Given the description of an element on the screen output the (x, y) to click on. 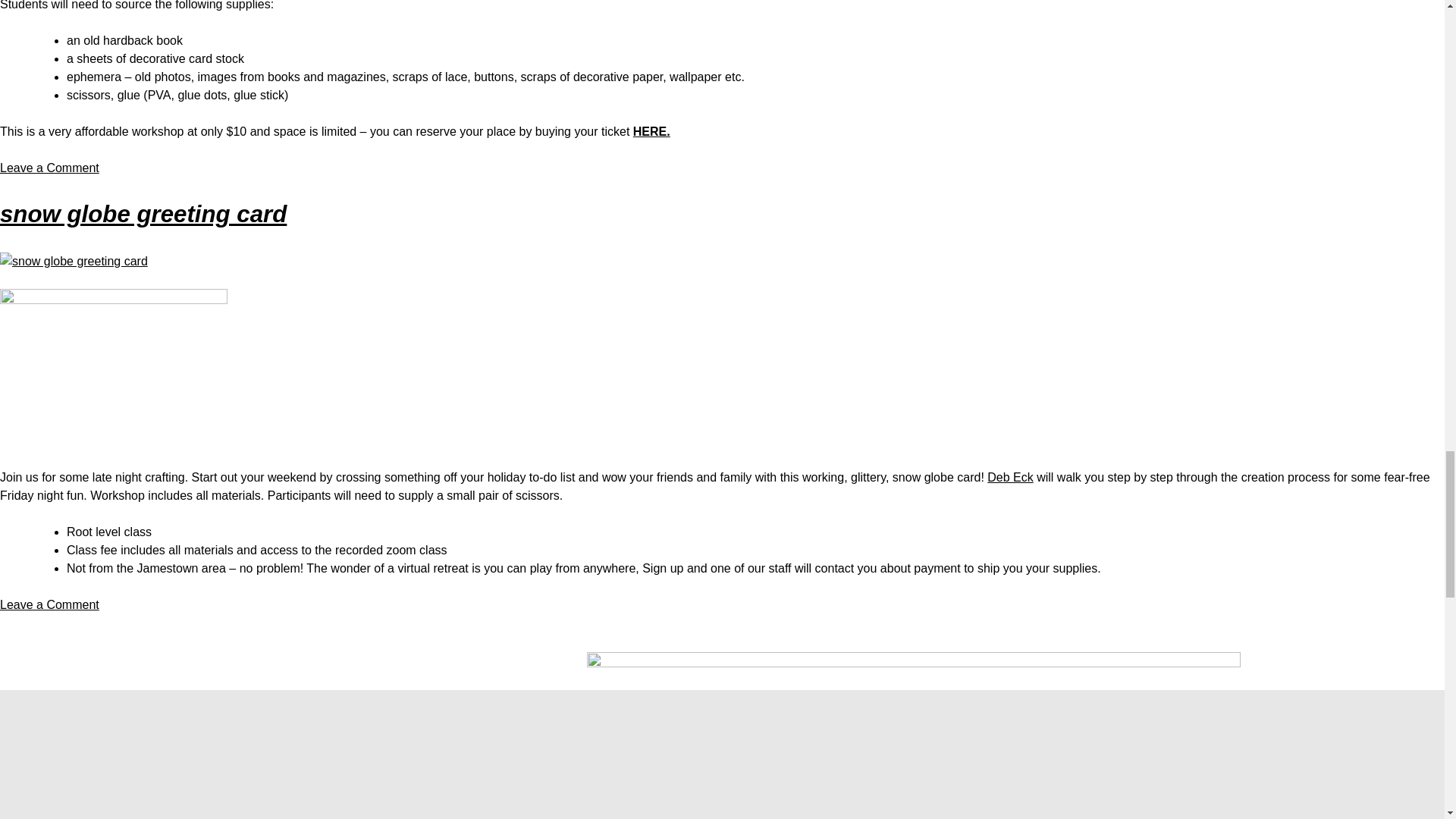
HERE. (651, 131)
snow globe greeting card (49, 604)
Deb Eck (143, 213)
